Given the description of an element on the screen output the (x, y) to click on. 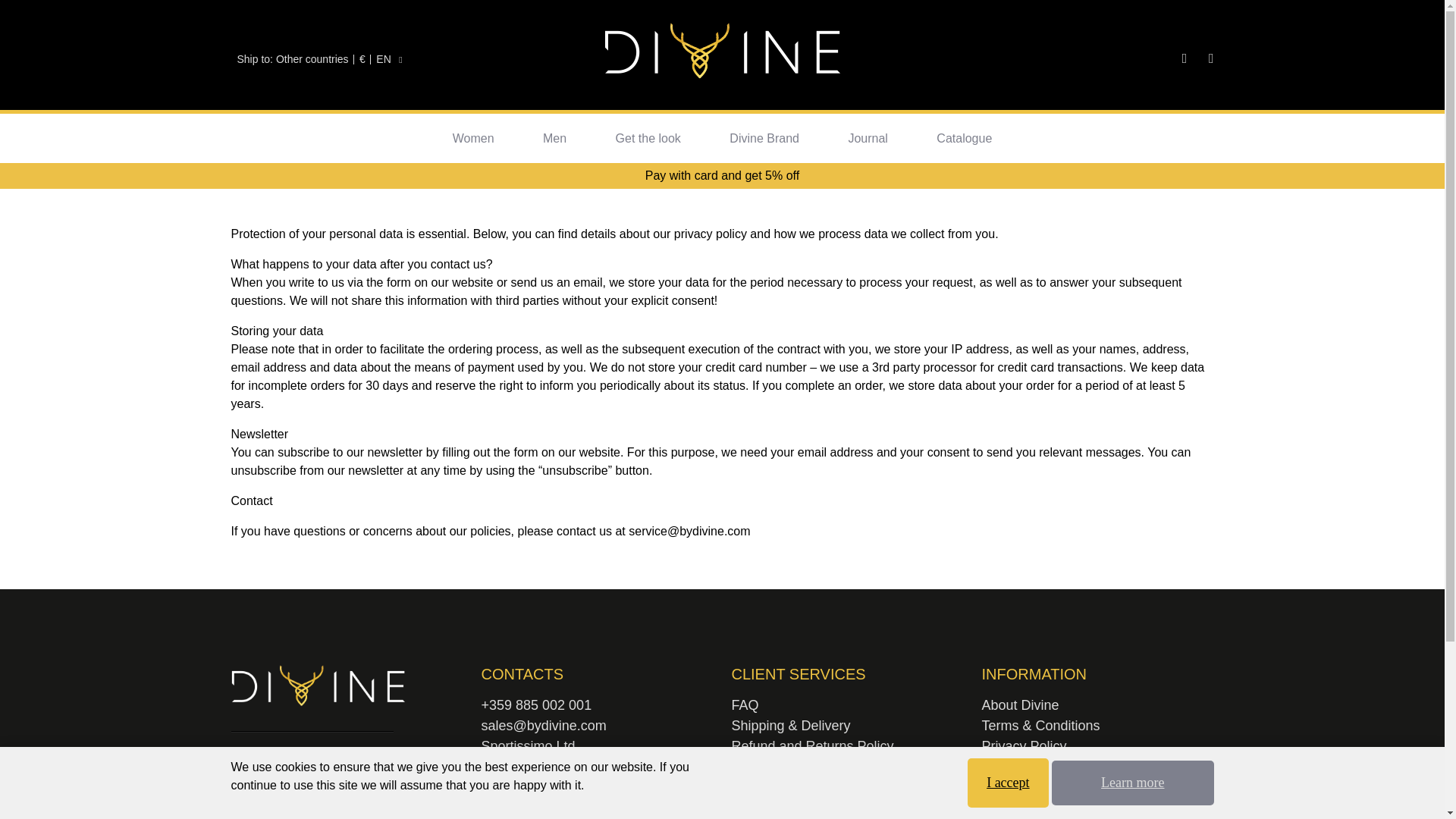
Men (554, 137)
Get the look (648, 137)
Catalogue (963, 137)
Journal (866, 137)
Women (473, 137)
Divine Brand (764, 137)
Search (1134, 59)
